Given the description of an element on the screen output the (x, y) to click on. 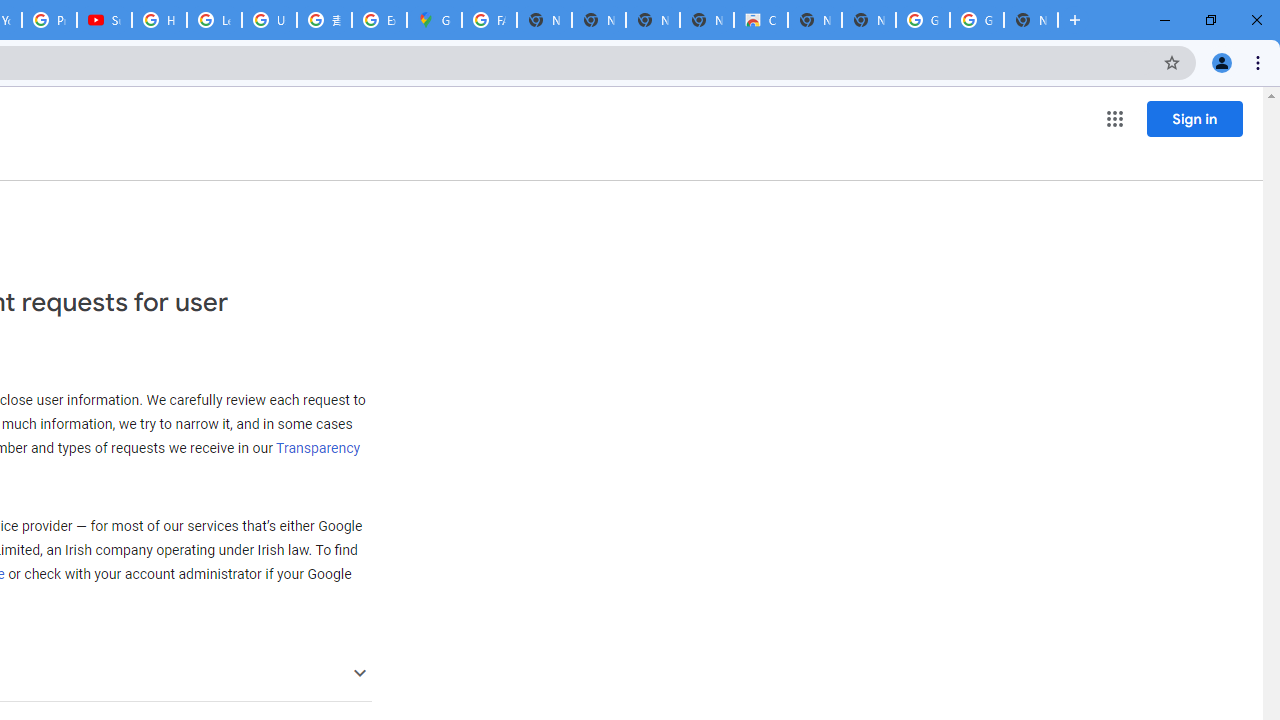
Google Images (922, 20)
Google Maps (434, 20)
Explore new street-level details - Google Maps Help (379, 20)
Google Images (976, 20)
Chrome Web Store (760, 20)
How Chrome protects your passwords - Google Chrome Help (158, 20)
